Given the description of an element on the screen output the (x, y) to click on. 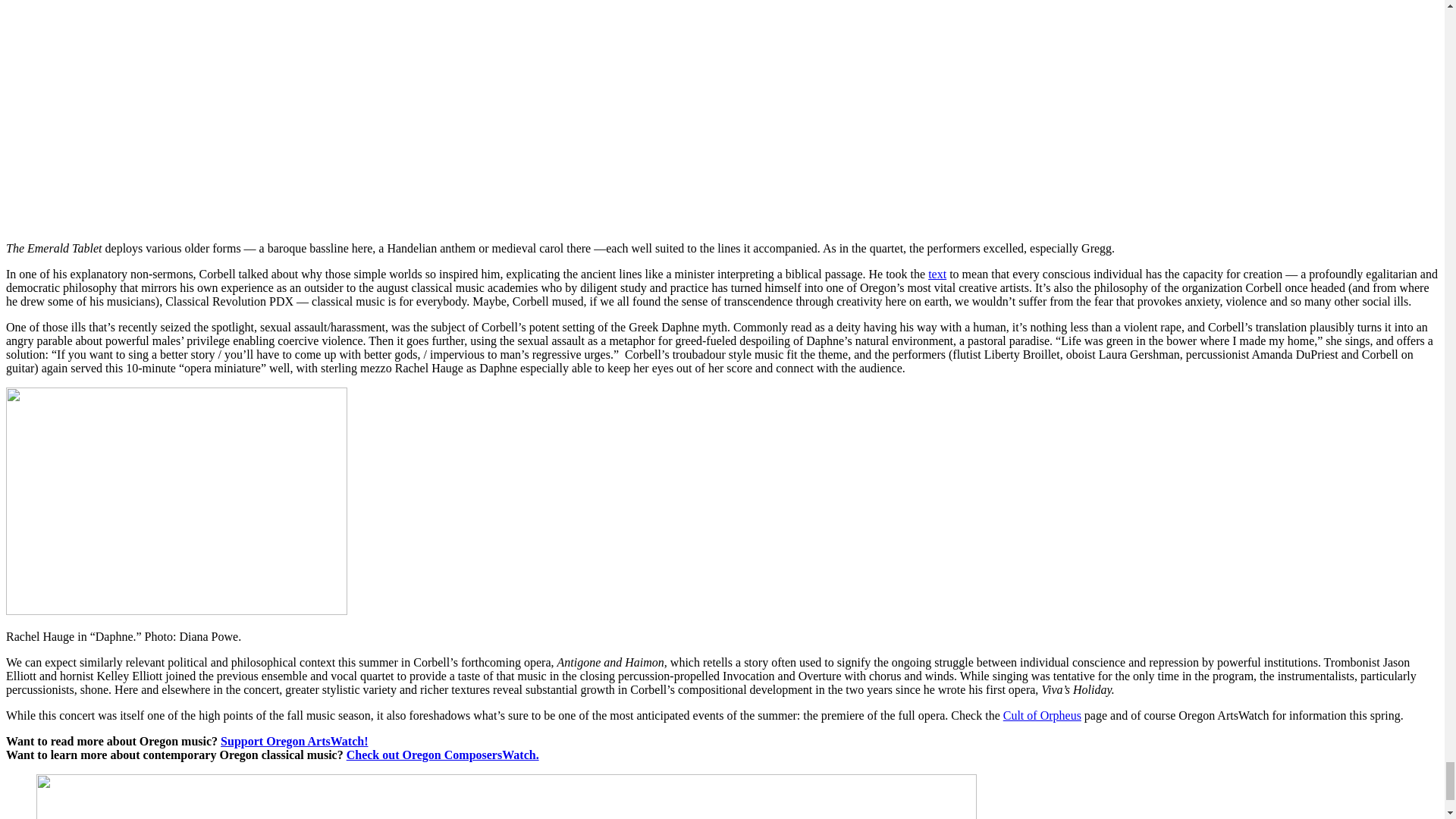
Support Oregon ArtsWatch! (294, 740)
text (937, 273)
Cult of Orpheus (1042, 715)
Check out Oregon ComposersWatch. (442, 754)
